Given the description of an element on the screen output the (x, y) to click on. 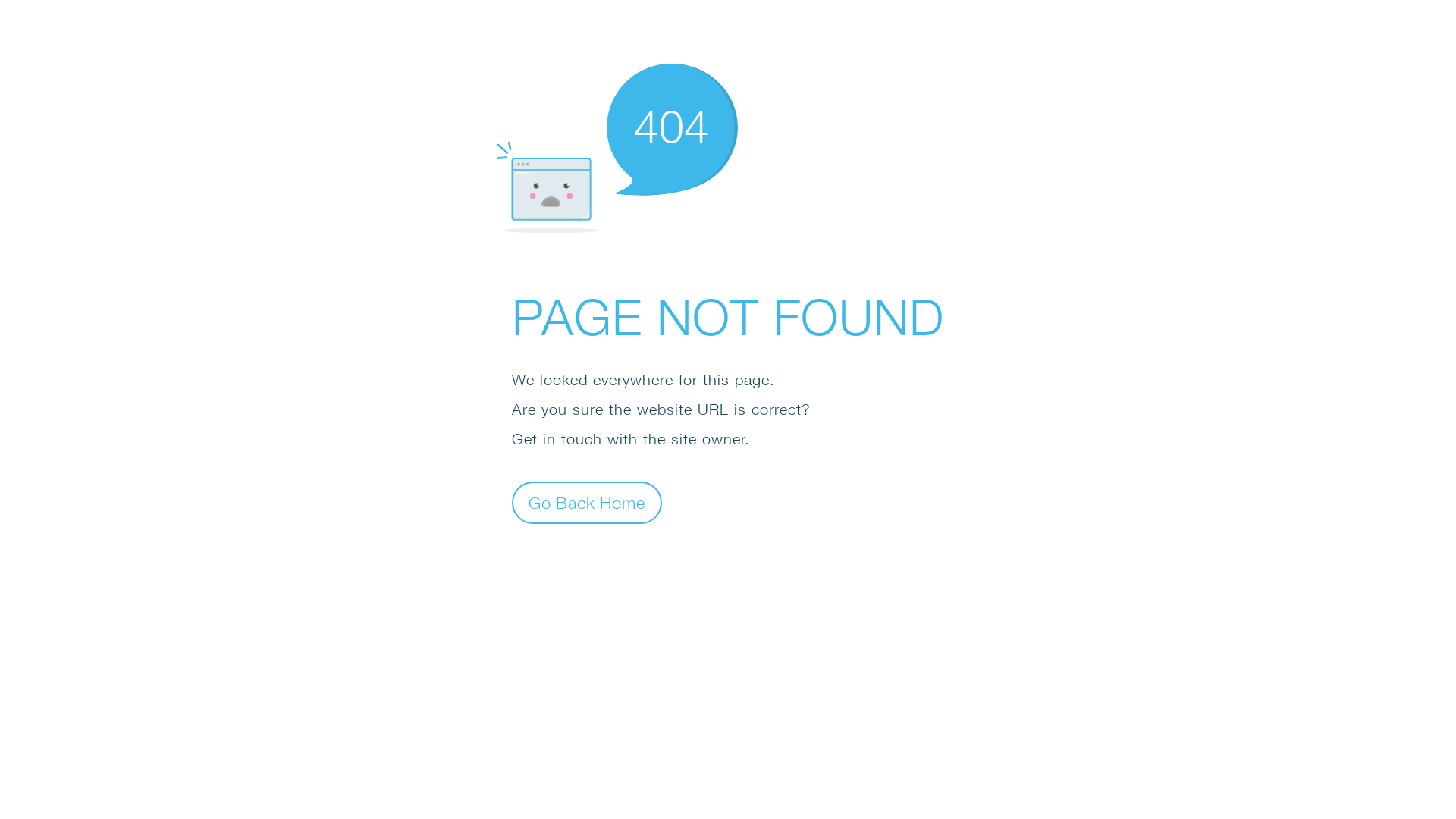
Go Back Home Element type: text (586, 502)
